Given the description of an element on the screen output the (x, y) to click on. 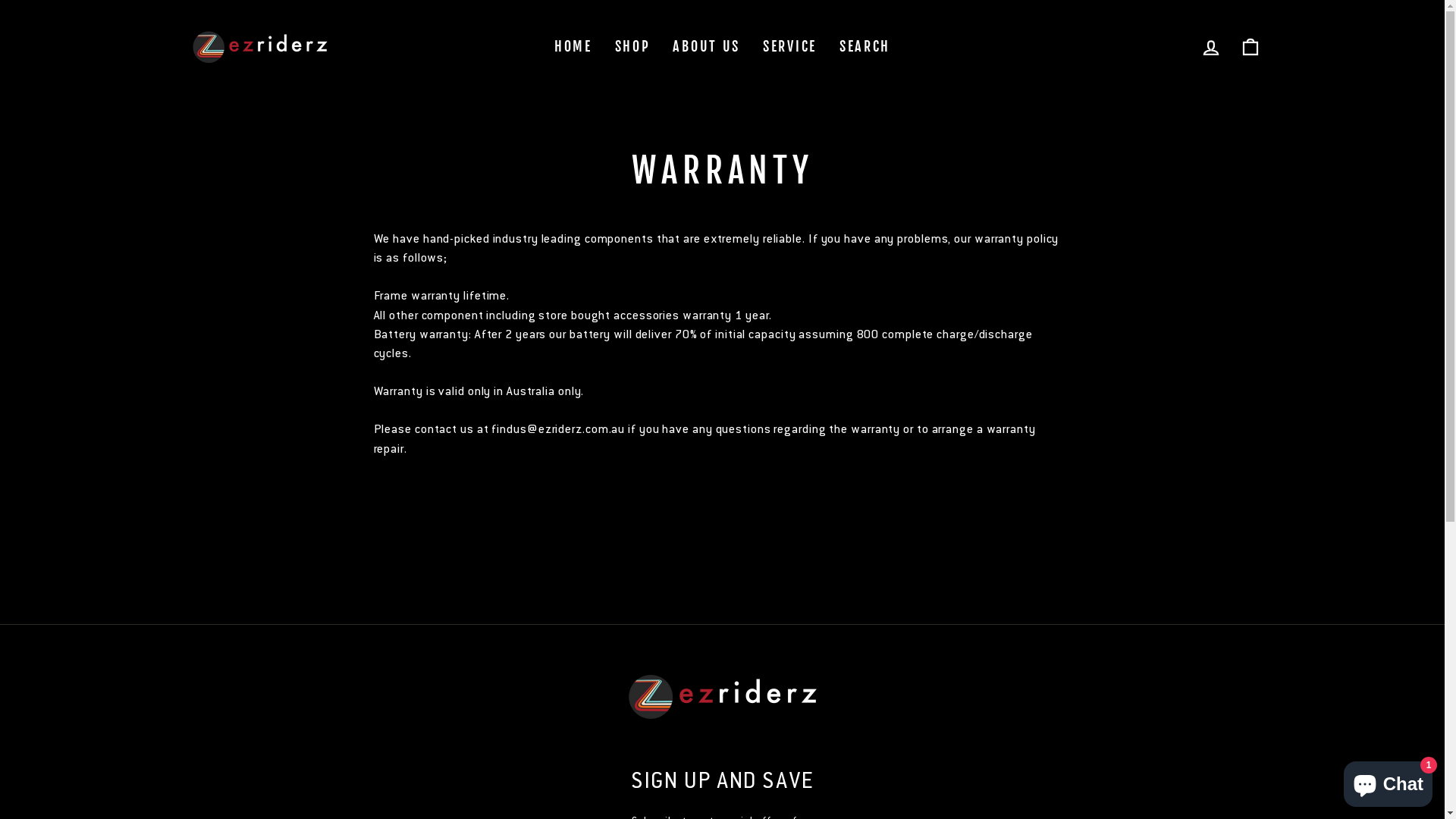
SHOP Element type: text (632, 46)
Skip to content Element type: text (0, 0)
LOG IN Element type: text (1210, 46)
ABOUT US Element type: text (706, 46)
SEARCH Element type: text (864, 46)
SERVICE Element type: text (789, 46)
HOME Element type: text (572, 46)
Shopify online store chat Element type: hover (1388, 780)
CART Element type: text (1249, 46)
